Given the description of an element on the screen output the (x, y) to click on. 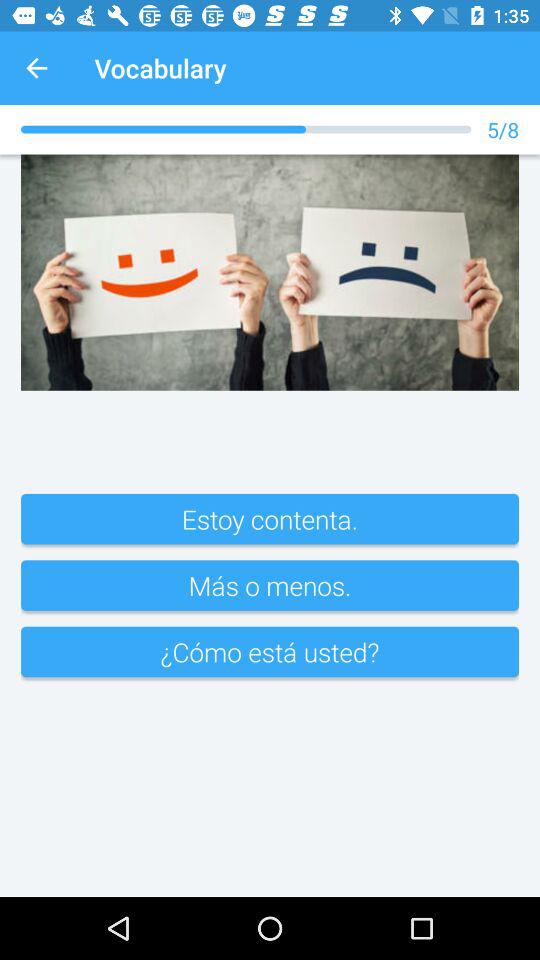
choose the icon next to vocabulary (36, 68)
